Given the description of an element on the screen output the (x, y) to click on. 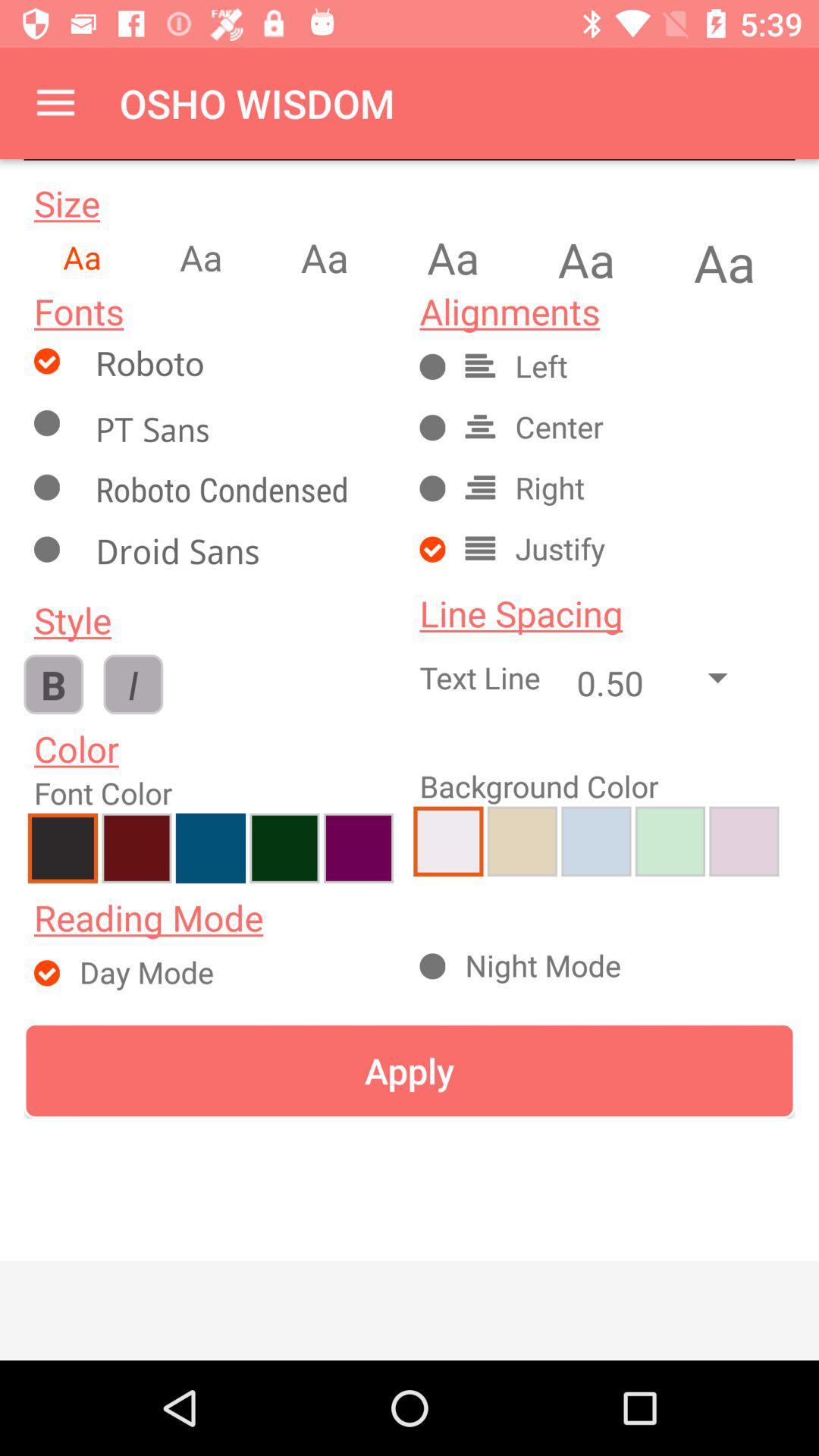
change background color (522, 841)
